Given the description of an element on the screen output the (x, y) to click on. 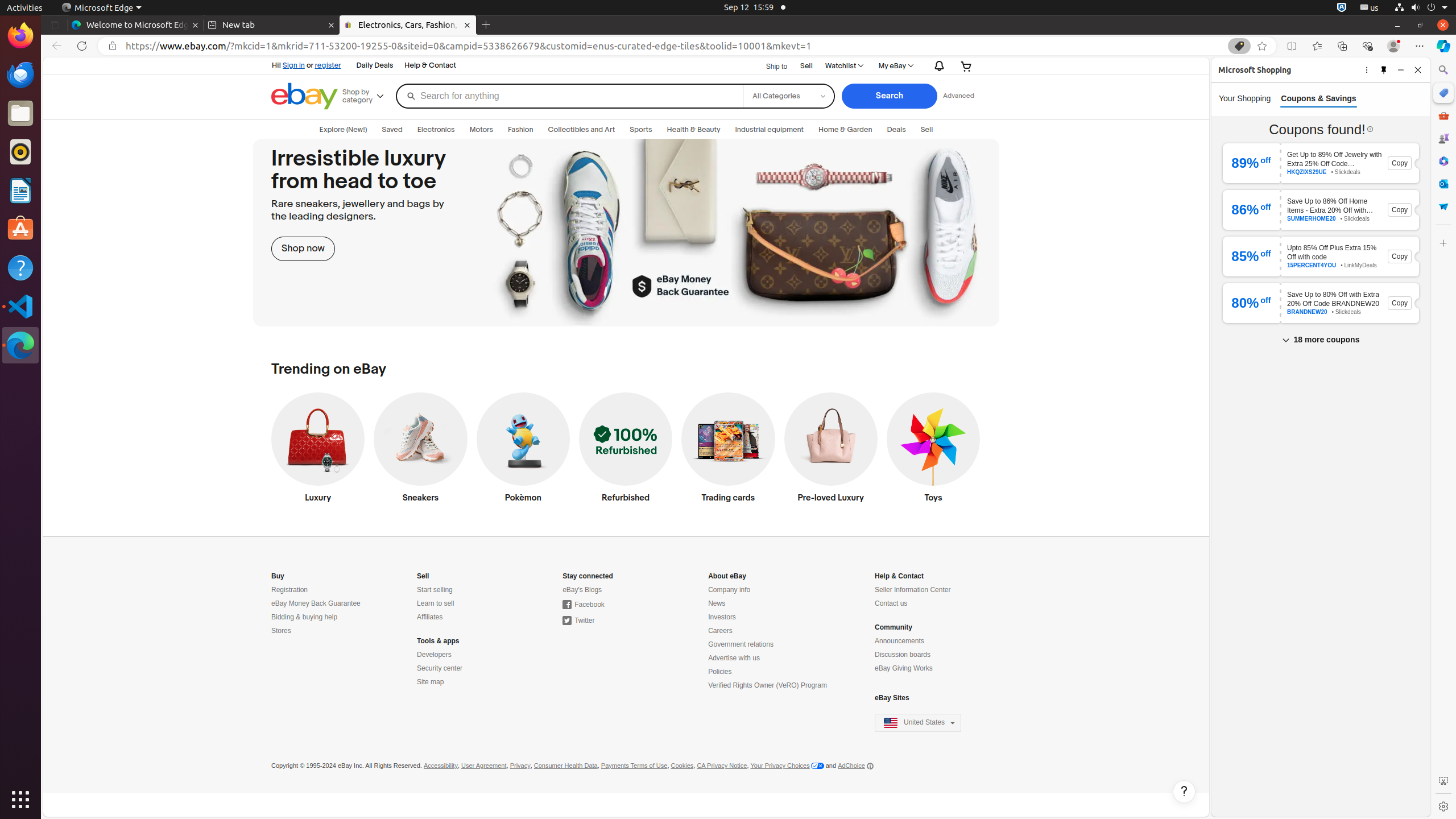
Seller Information Center Element type: link (912, 589)
Sell Element type: link (806, 65)
Government relations Element type: link (740, 644)
More options Element type: push-button (1366, 69)
Search Element type: push-button (889, 95)
